Given the description of an element on the screen output the (x, y) to click on. 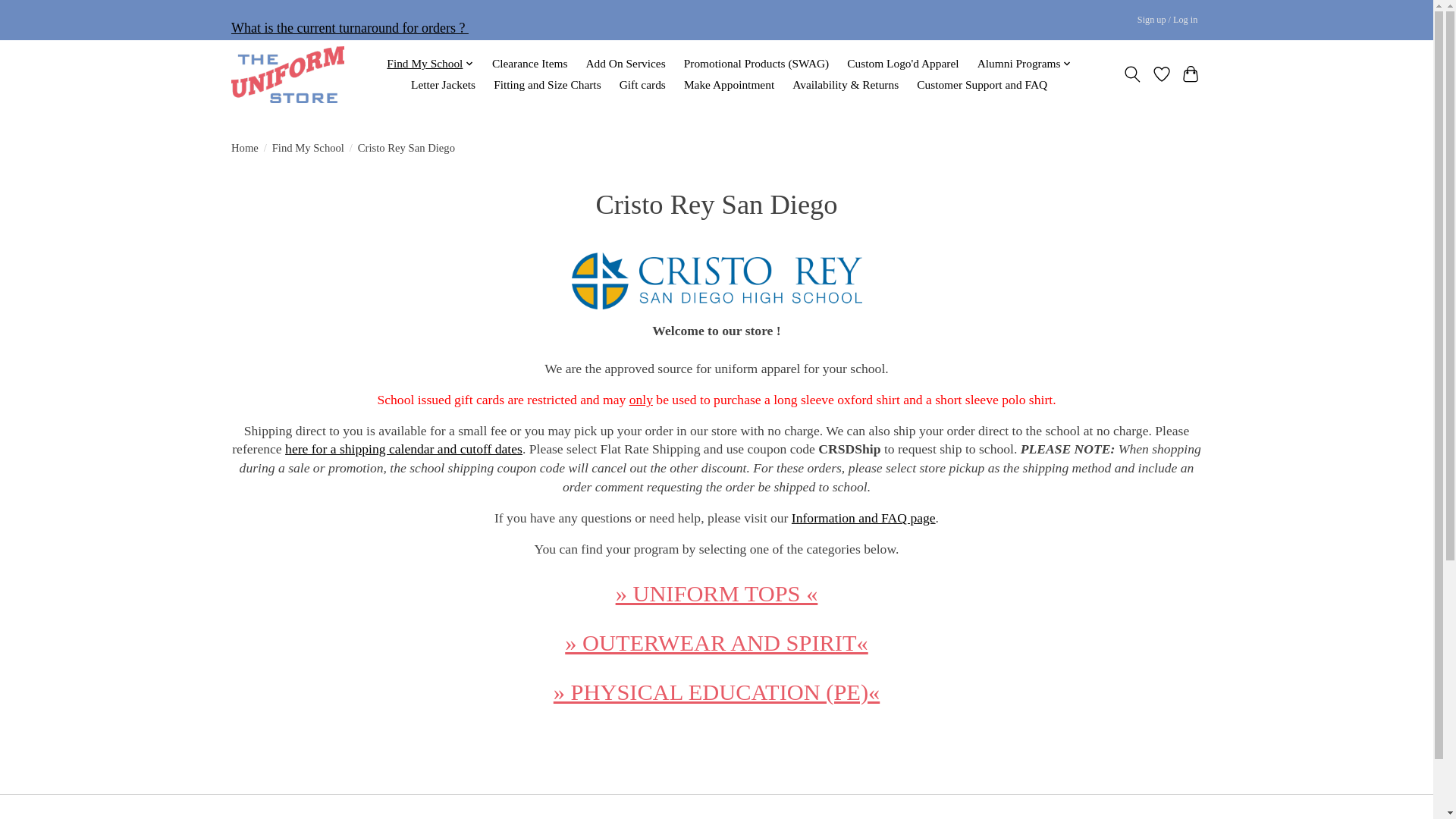
What is the current turnaround for orders ?  (349, 28)
The Uniform Store (287, 74)
My account (1167, 19)
Find My School (430, 64)
